Given the description of an element on the screen output the (x, y) to click on. 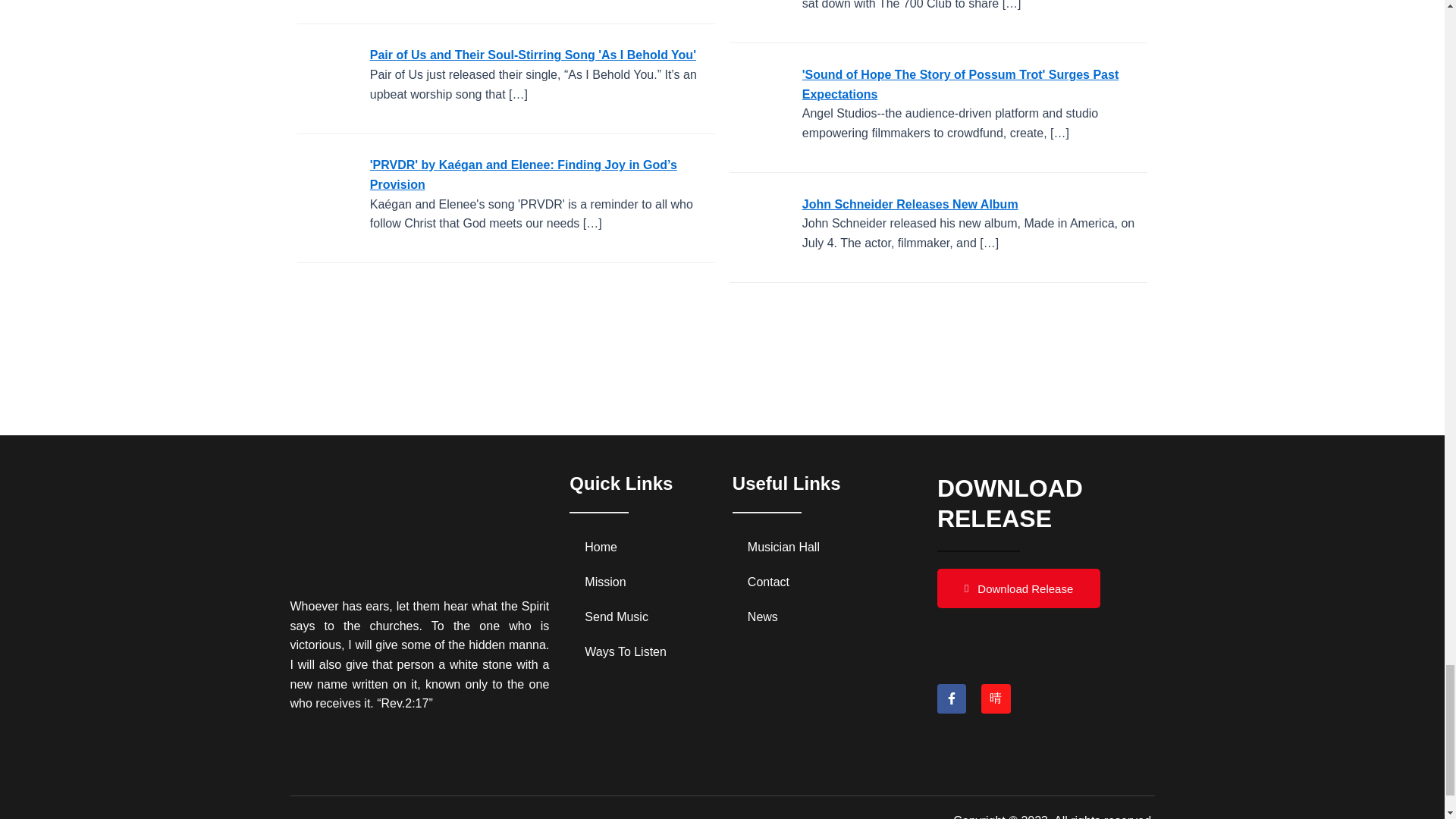
Pair of Us and Their Soul-Stirring Song 'As I Behold You' (327, 79)
